Given the description of an element on the screen output the (x, y) to click on. 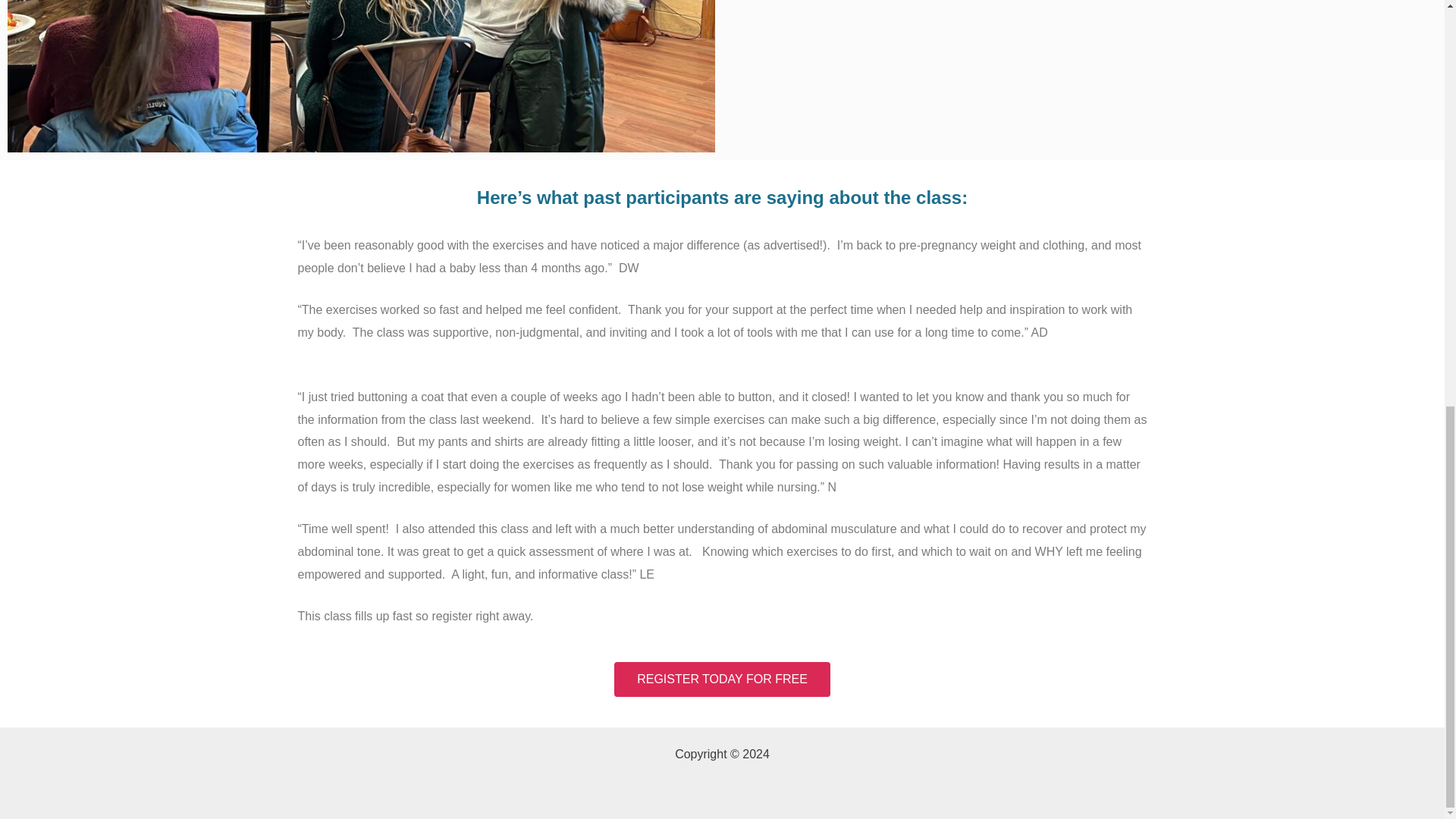
REGISTER TODAY FOR FREE (721, 678)
